Given the description of an element on the screen output the (x, y) to click on. 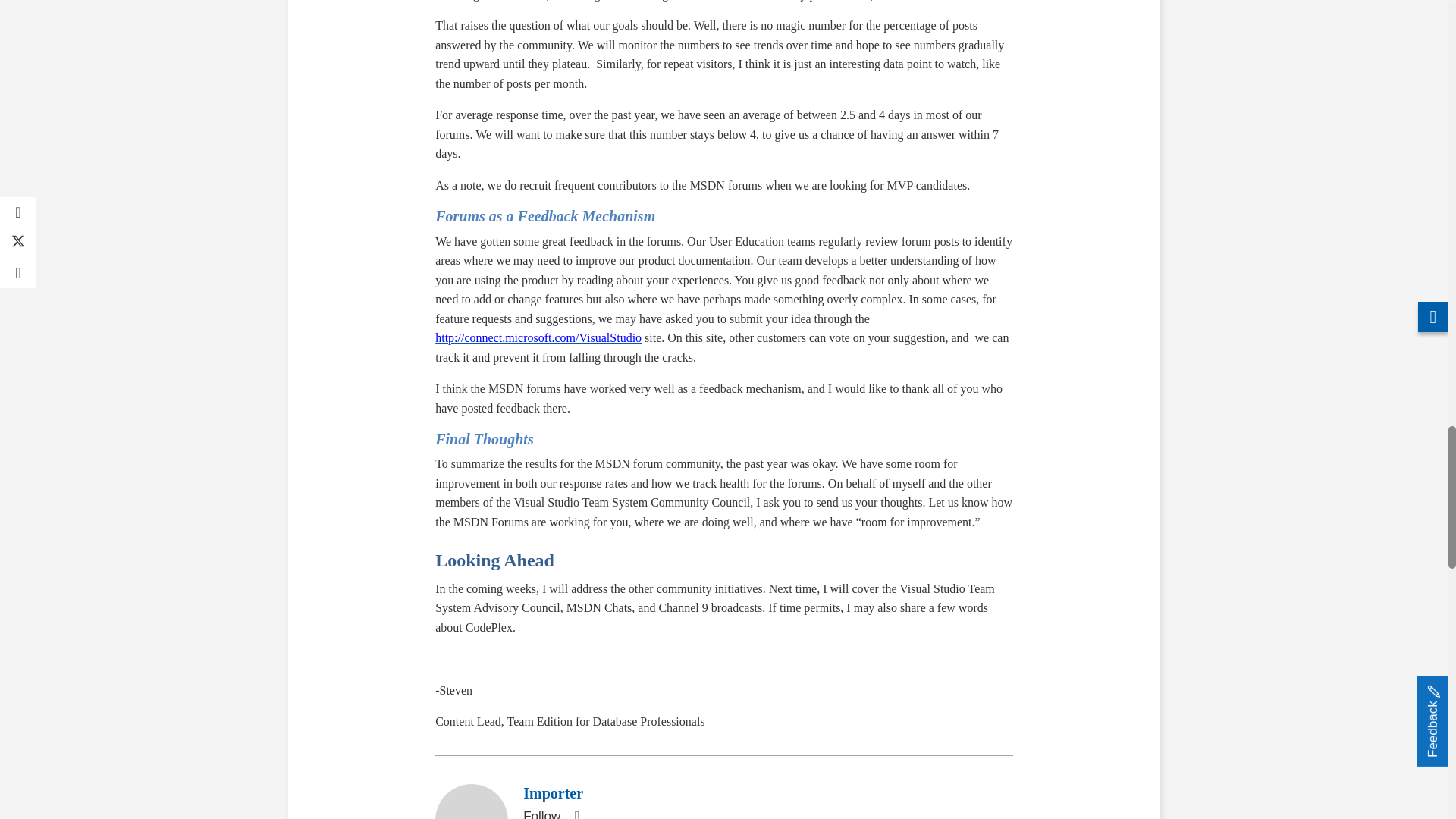
RSS Feed (576, 812)
